Given the description of an element on the screen output the (x, y) to click on. 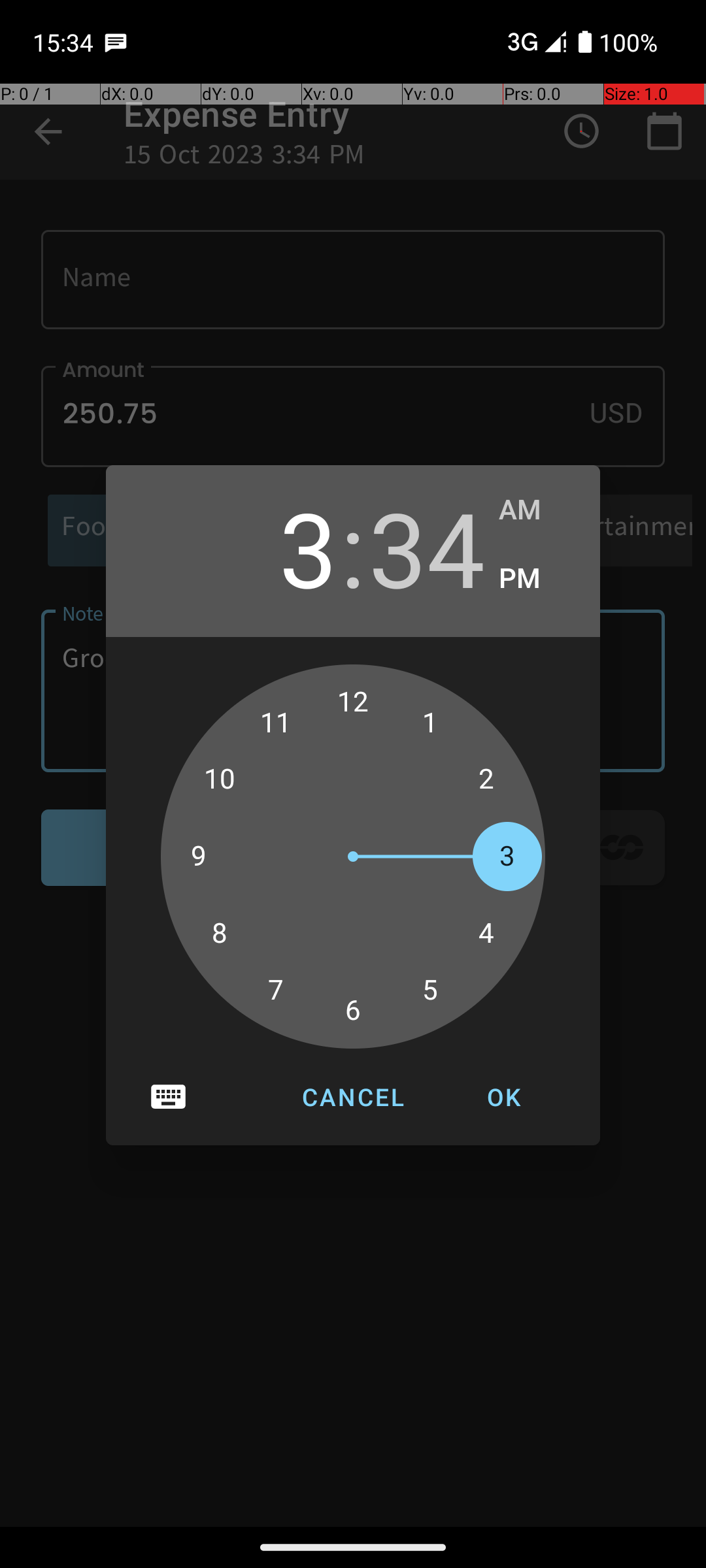
34 Element type: android.widget.TextView (426, 547)
AM Element type: android.widget.RadioButton (535, 510)
PM Element type: android.widget.RadioButton (535, 578)
SMS Messenger notification: +12845986552 Element type: android.widget.ImageView (115, 41)
